Given the description of an element on the screen output the (x, y) to click on. 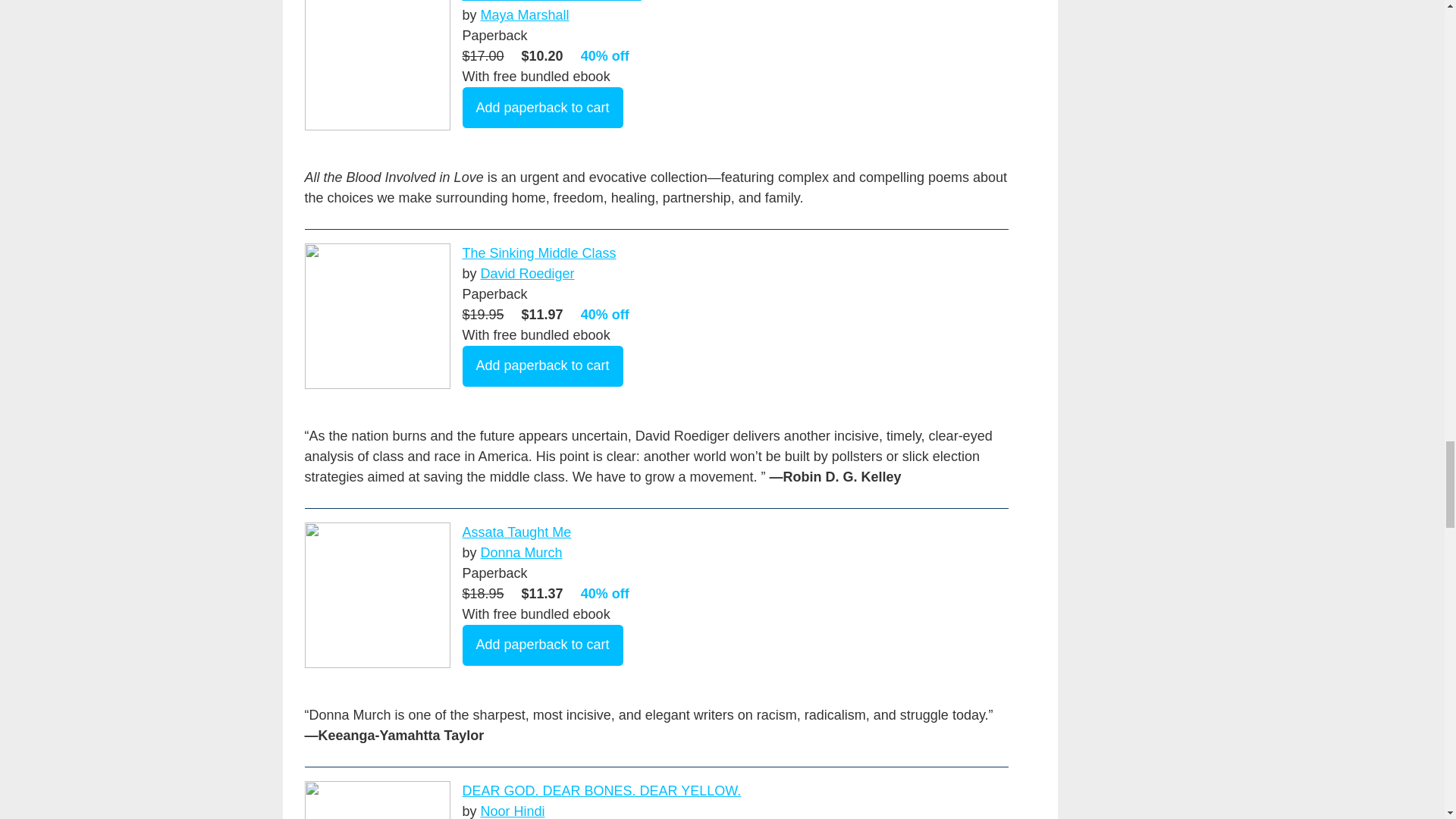
Add paperback to cart (543, 106)
Add paperback to cart (543, 365)
Add paperback to cart (543, 644)
